Given the description of an element on the screen output the (x, y) to click on. 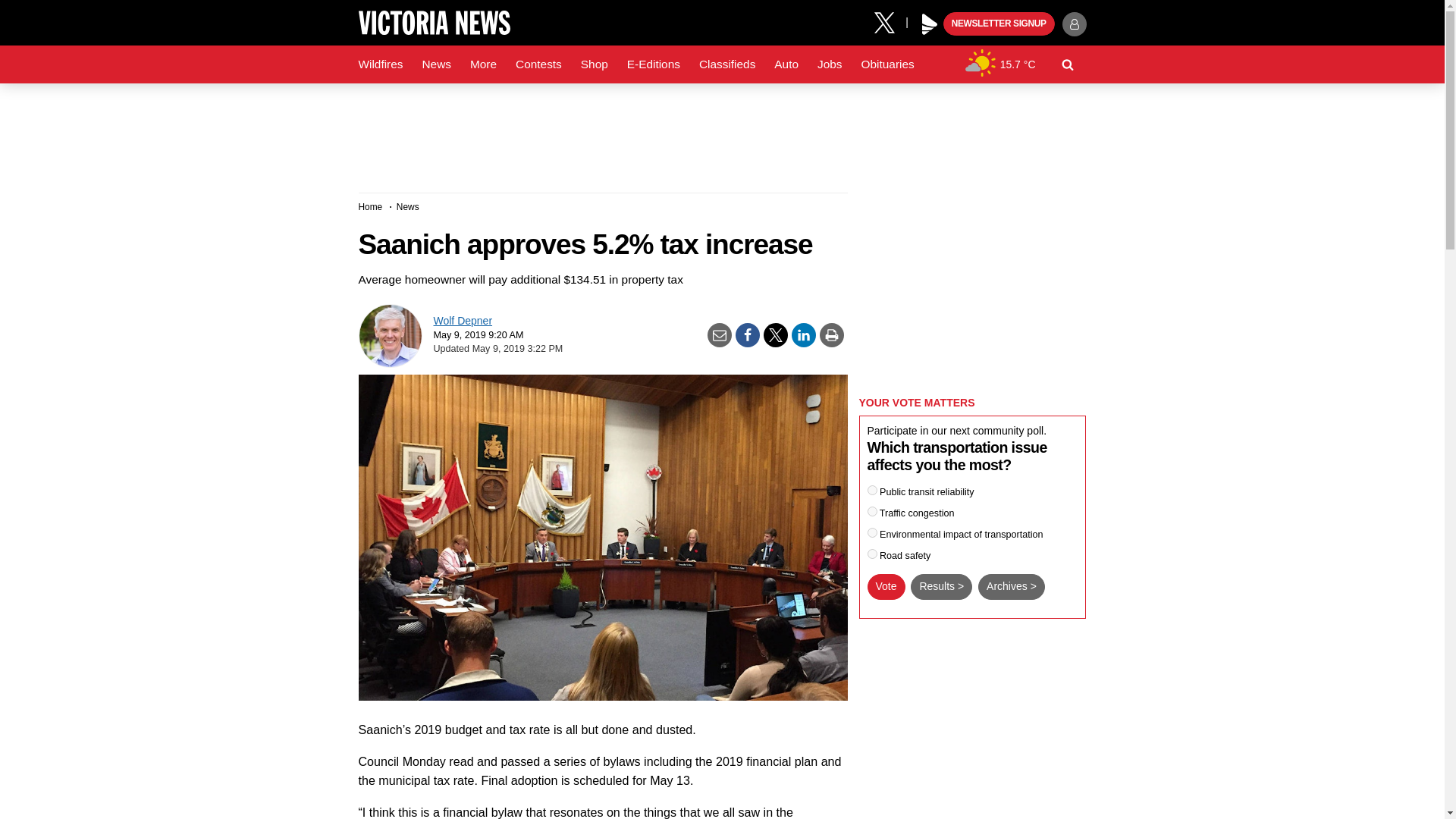
Play (929, 24)
X (889, 21)
News (435, 64)
268 (872, 532)
266 (872, 511)
265 (872, 490)
Black Press Media (929, 24)
267 (872, 553)
NEWSLETTER SIGNUP (998, 24)
Wildfires (380, 64)
